Given the description of an element on the screen output the (x, y) to click on. 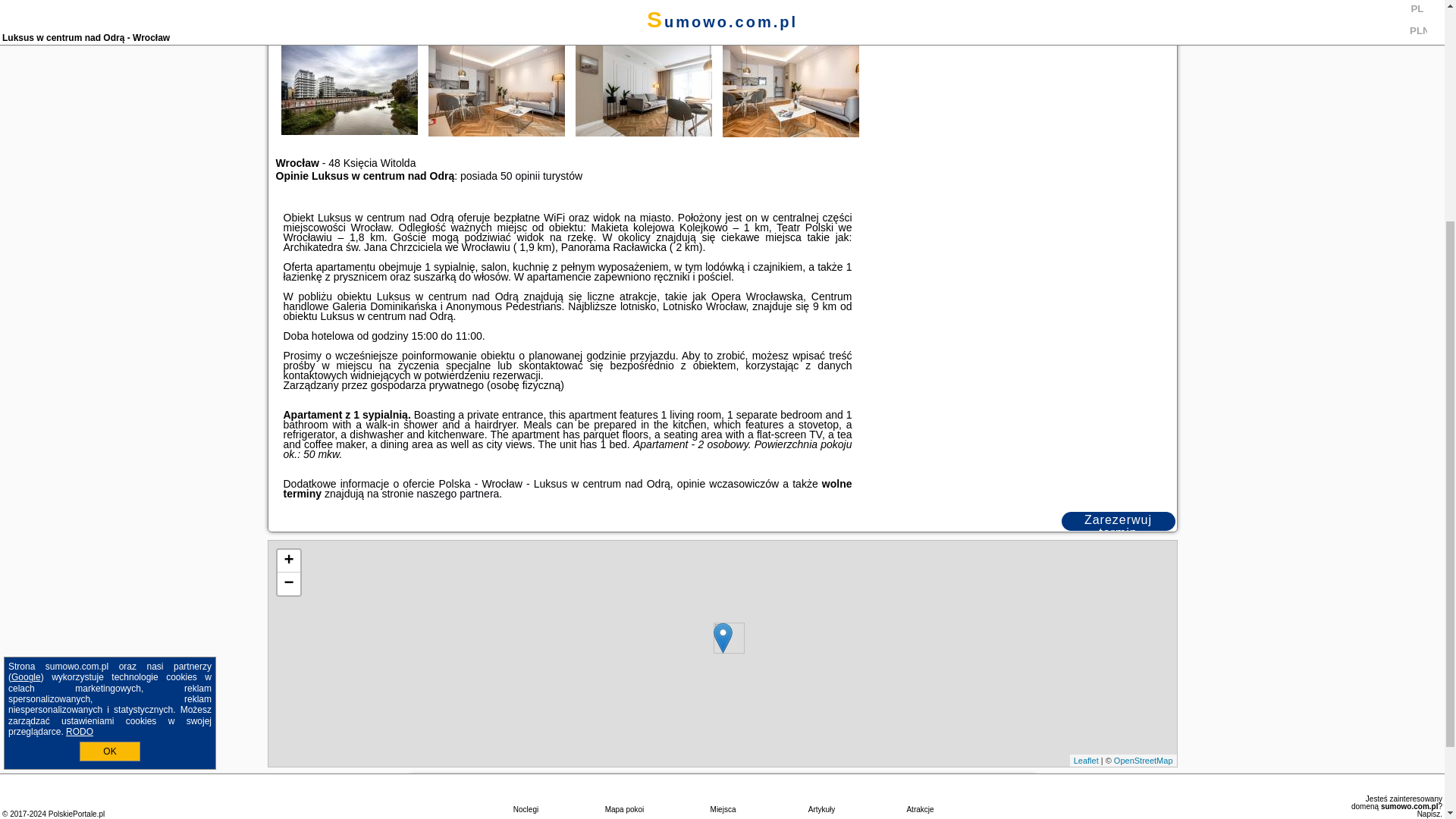
Noclegi (525, 469)
Zarezerwuj termin (1117, 520)
naszego partnera (457, 493)
Atrakcje (919, 469)
OpenStreetMap (1143, 759)
Mapa pokoi (623, 469)
50 opinii (520, 175)
Leaflet (1086, 759)
Google (25, 348)
RODO (79, 403)
Miejsca (722, 469)
PolskiePortale.pl (76, 485)
Napisz (1428, 485)
